Given the description of an element on the screen output the (x, y) to click on. 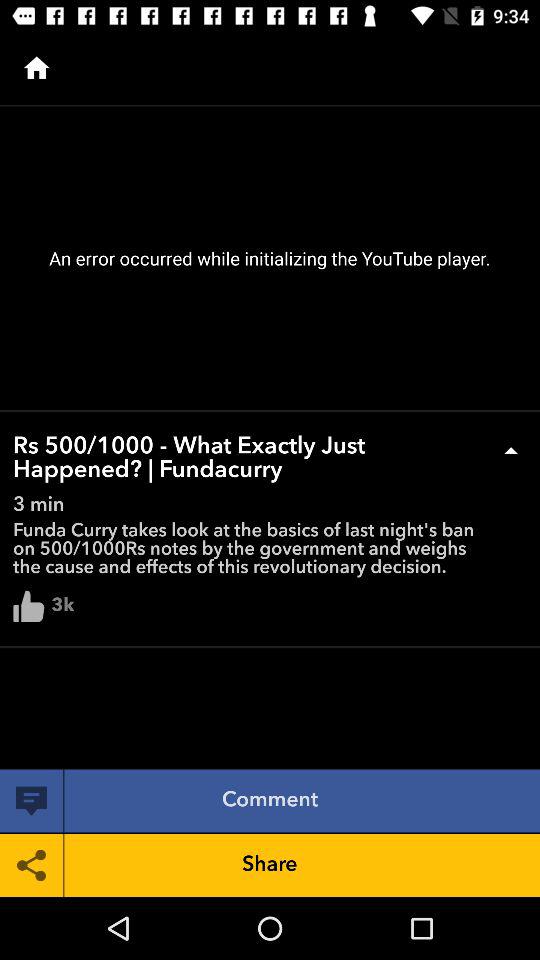
click the like icon on the web page (28, 606)
